Given the description of an element on the screen output the (x, y) to click on. 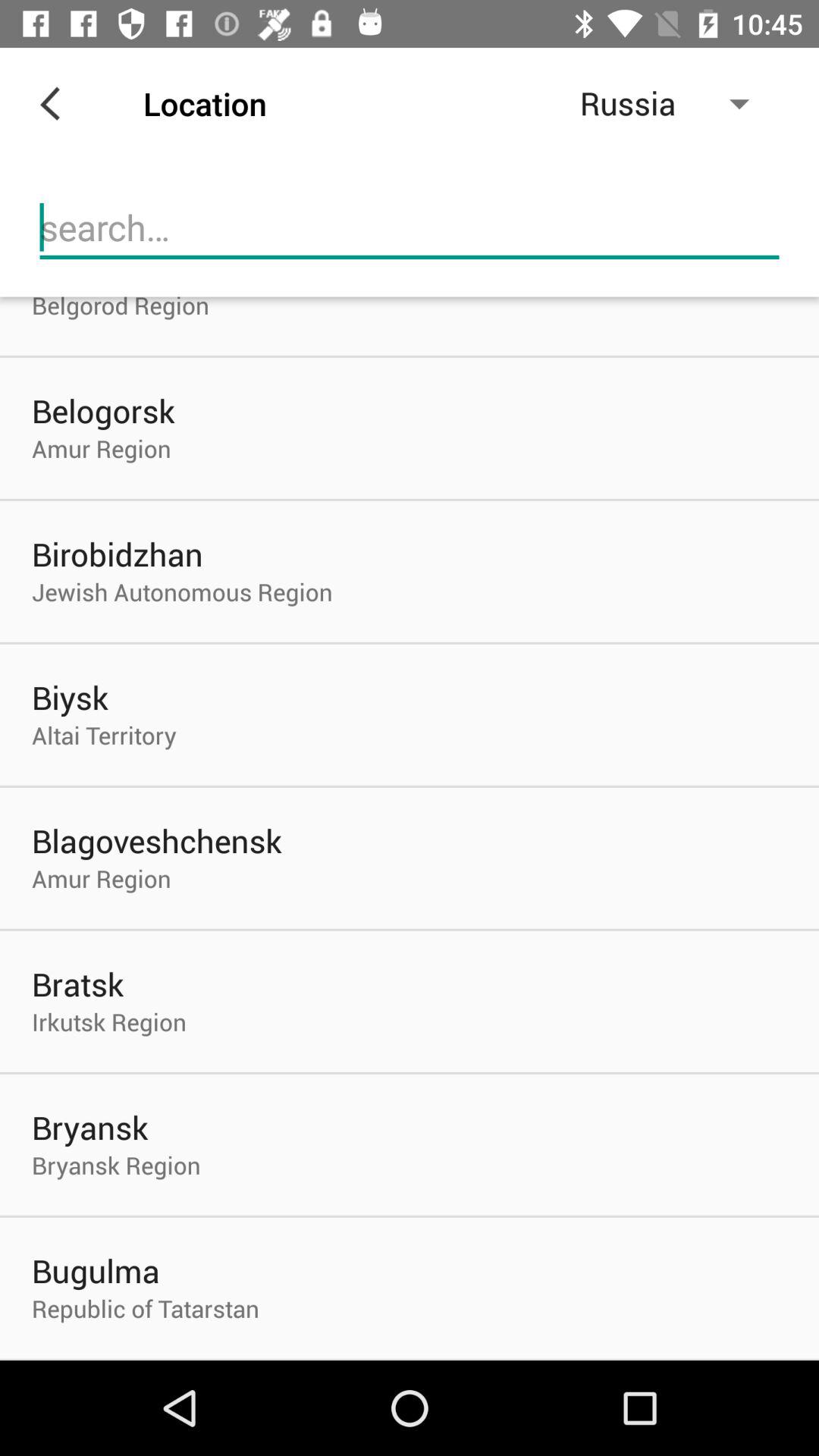
taxi and other transport.different rates (409, 228)
